Given the description of an element on the screen output the (x, y) to click on. 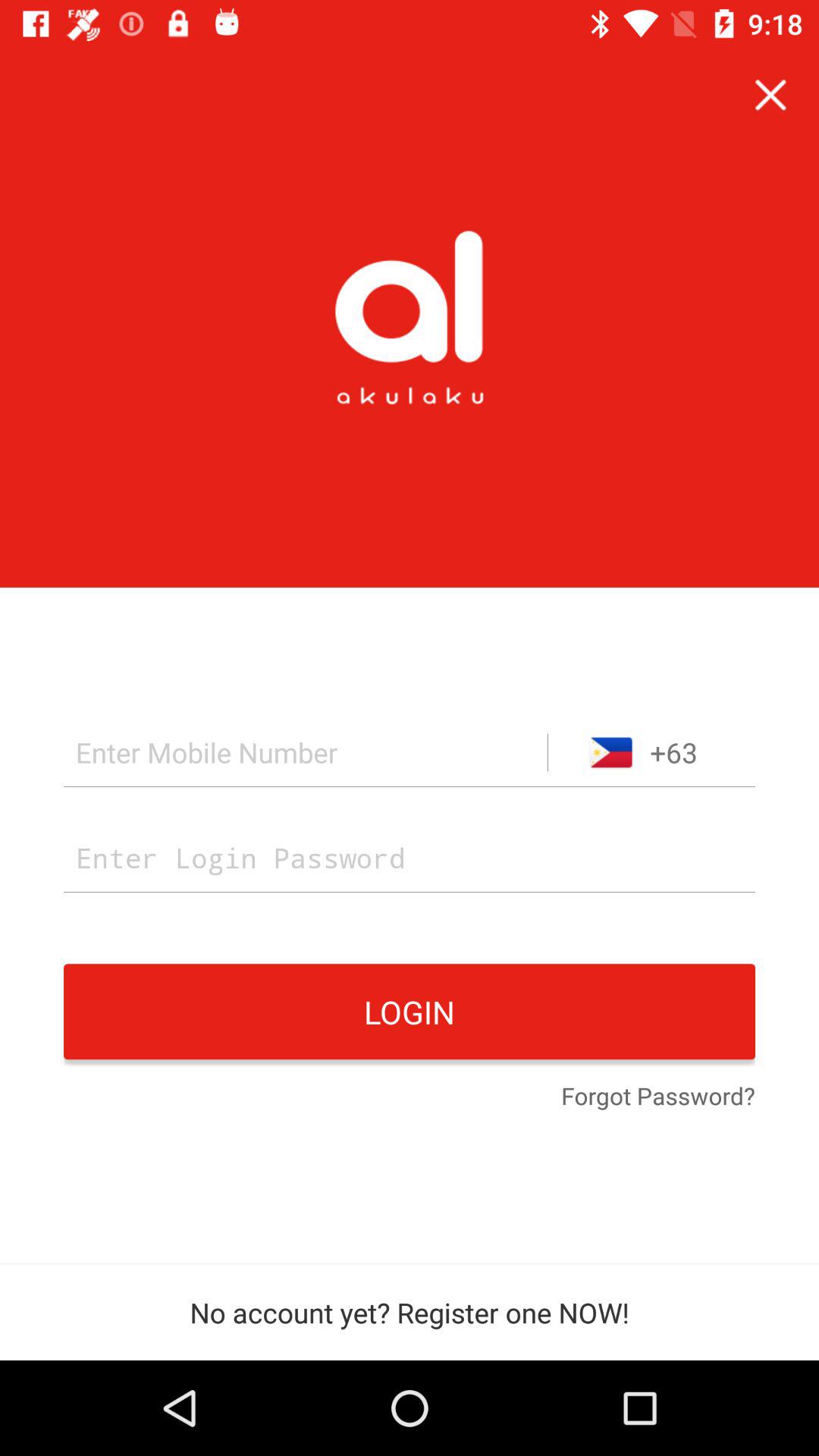
swipe to the forgot password? item (658, 1097)
